Given the description of an element on the screen output the (x, y) to click on. 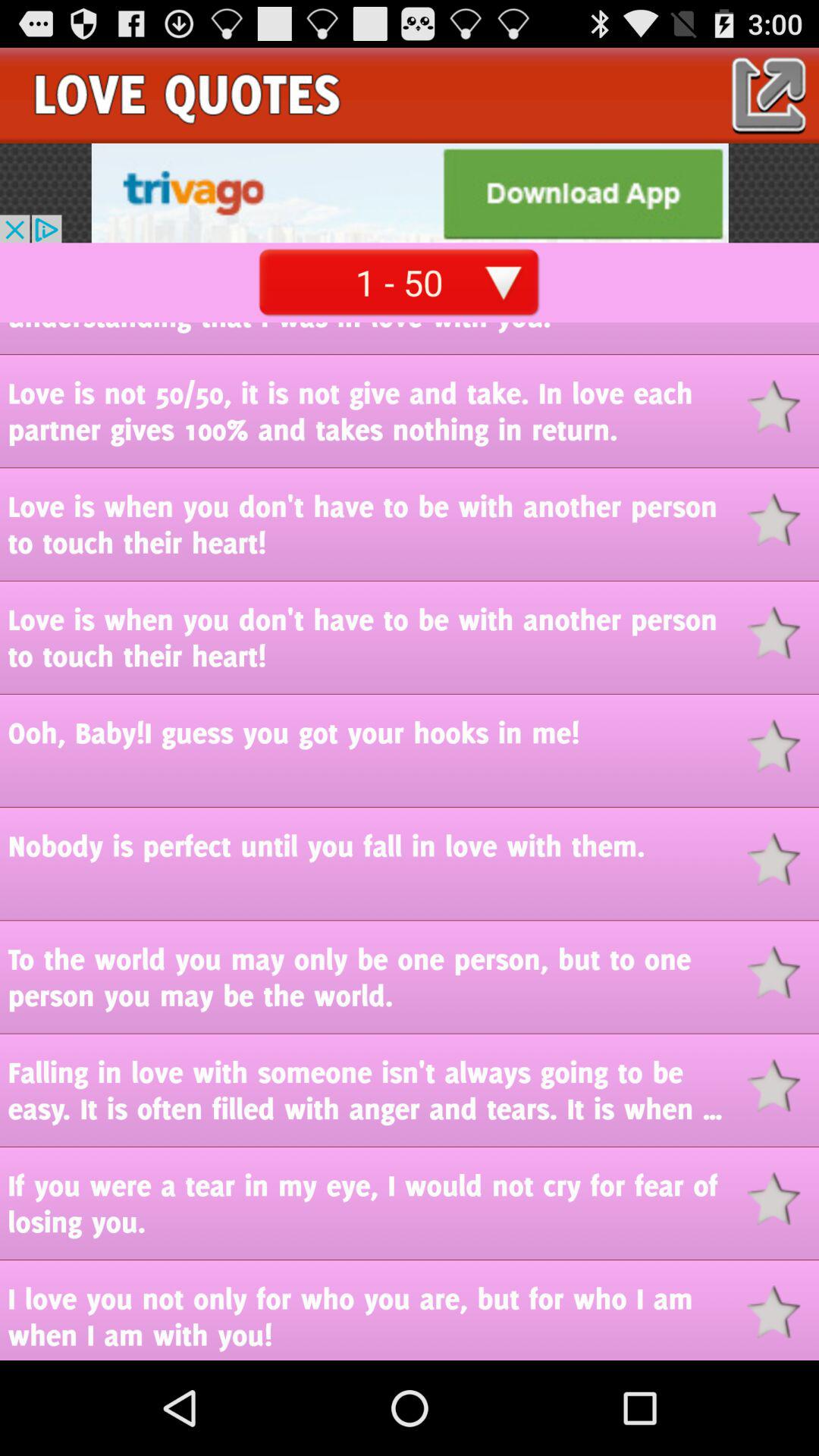
open an advertisements (409, 192)
